Given the description of an element on the screen output the (x, y) to click on. 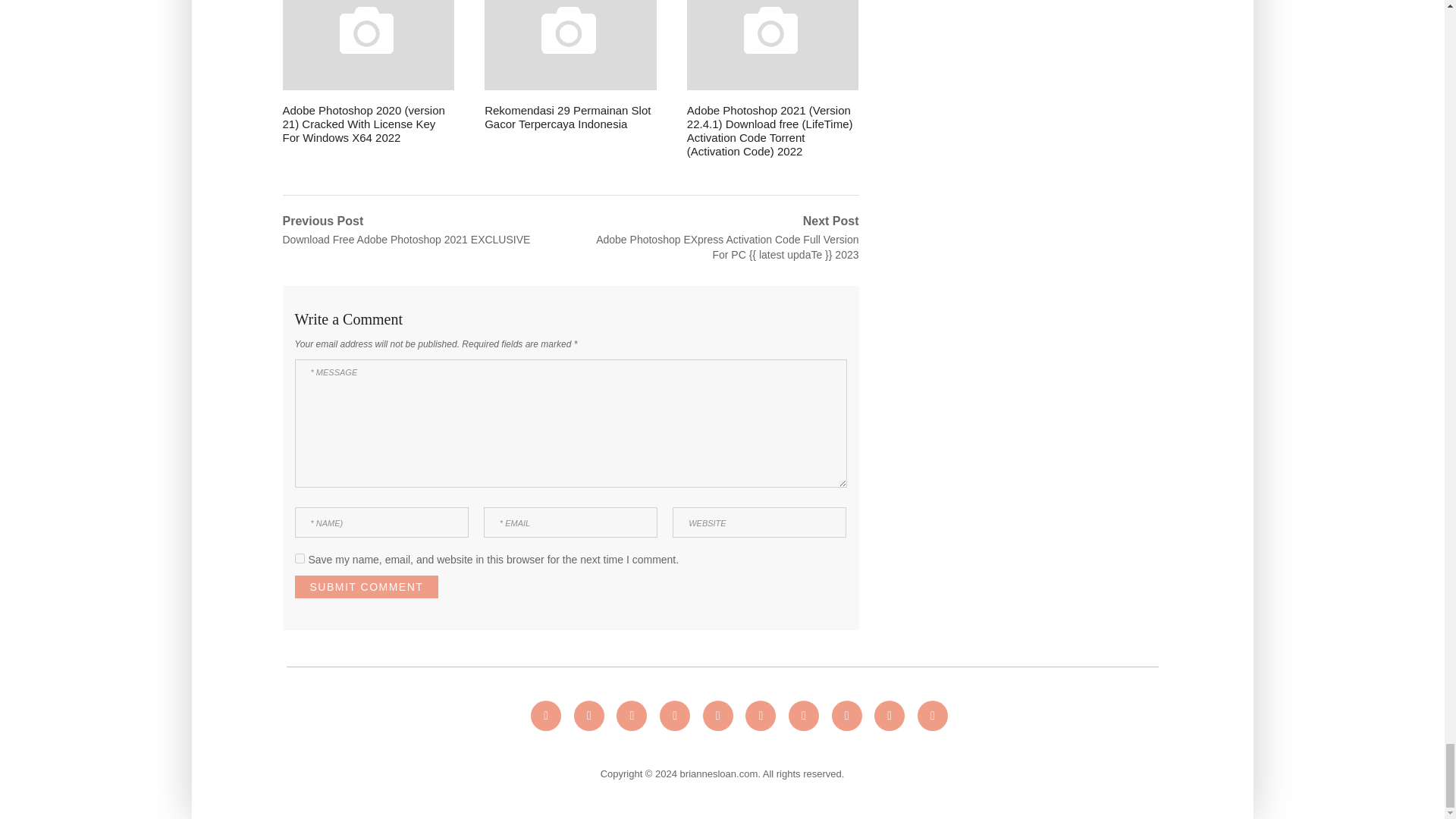
Submit Comment (366, 586)
Rekomendasi 29 Permainan Slot Gacor Terpercaya Indonesia (570, 65)
yes (299, 558)
